Given the description of an element on the screen output the (x, y) to click on. 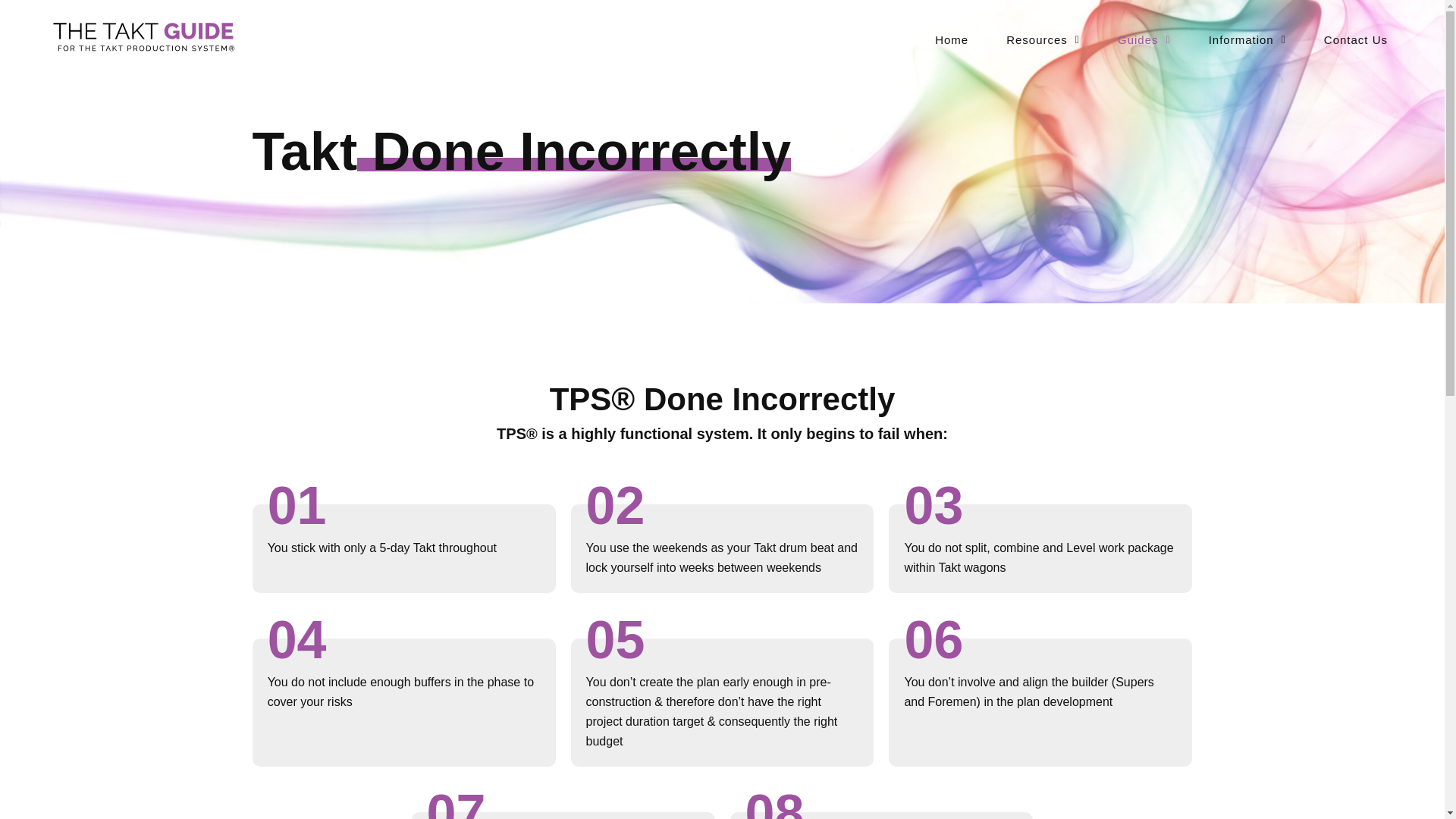
Information (1246, 39)
Contact Us (1355, 39)
Home (951, 39)
Resources (1043, 39)
Guides (1144, 39)
